Given the description of an element on the screen output the (x, y) to click on. 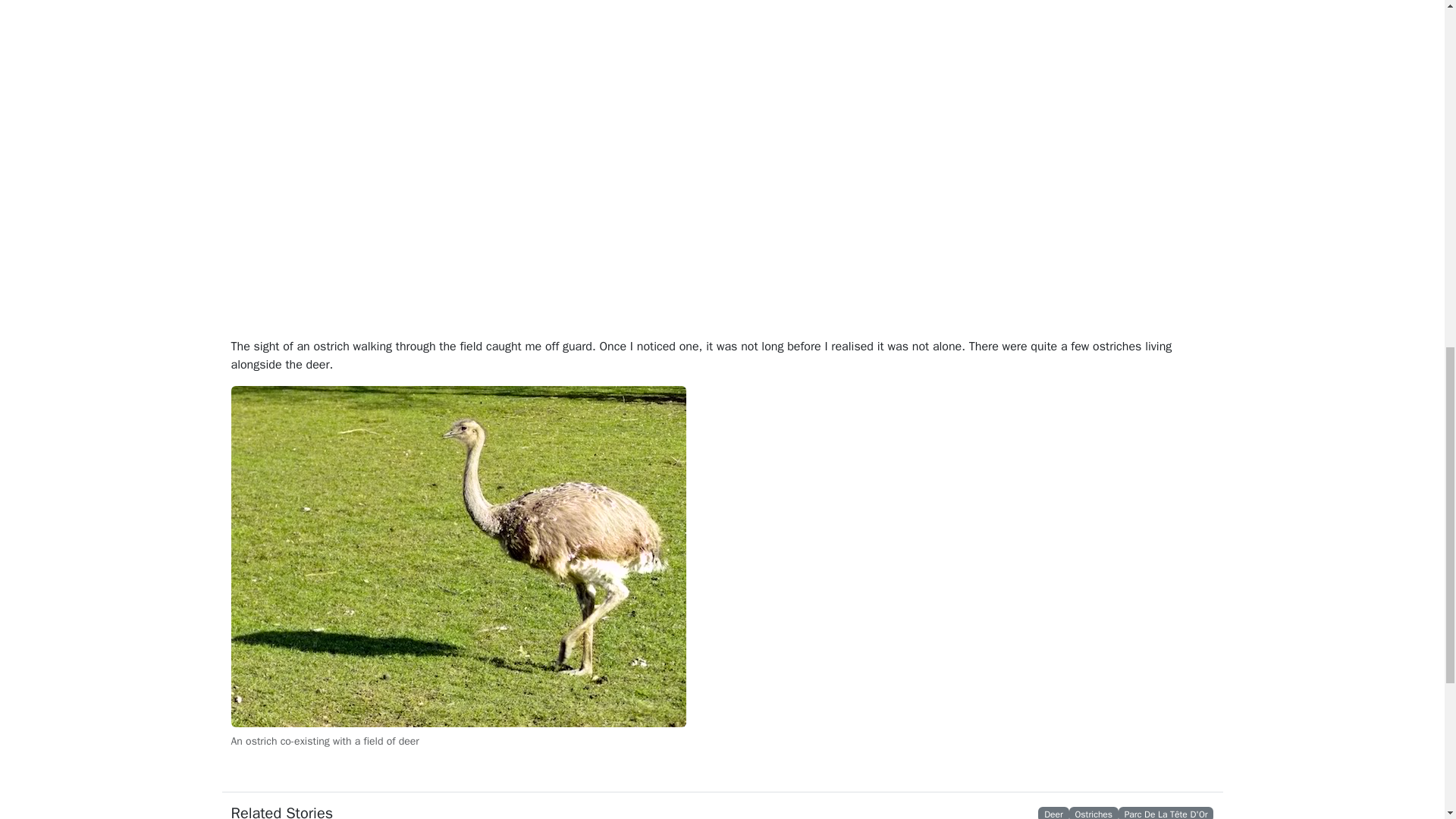
Ostriches (1093, 813)
Deer (1052, 813)
